Given the description of an element on the screen output the (x, y) to click on. 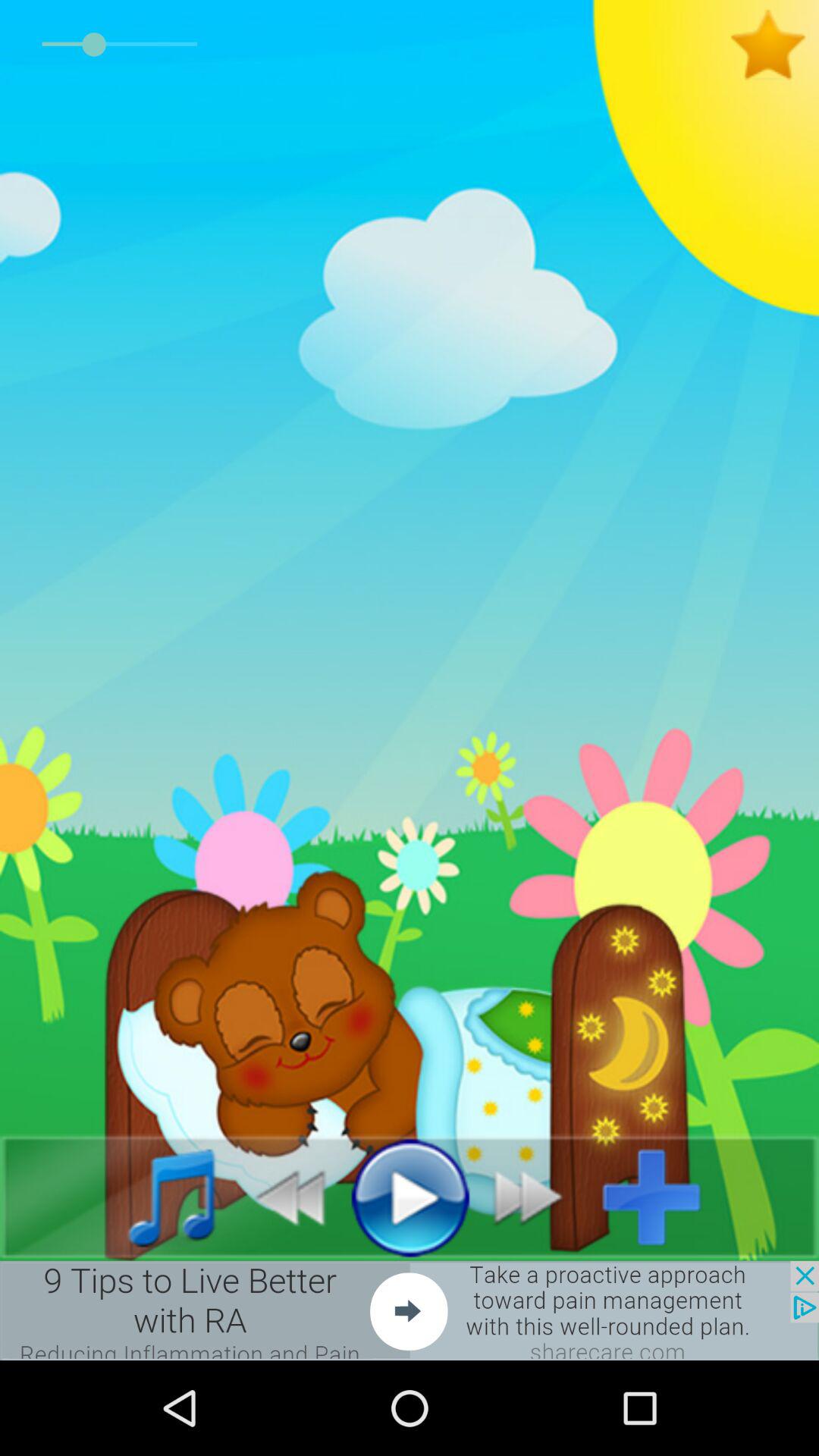
play audio (409, 1196)
